Given the description of an element on the screen output the (x, y) to click on. 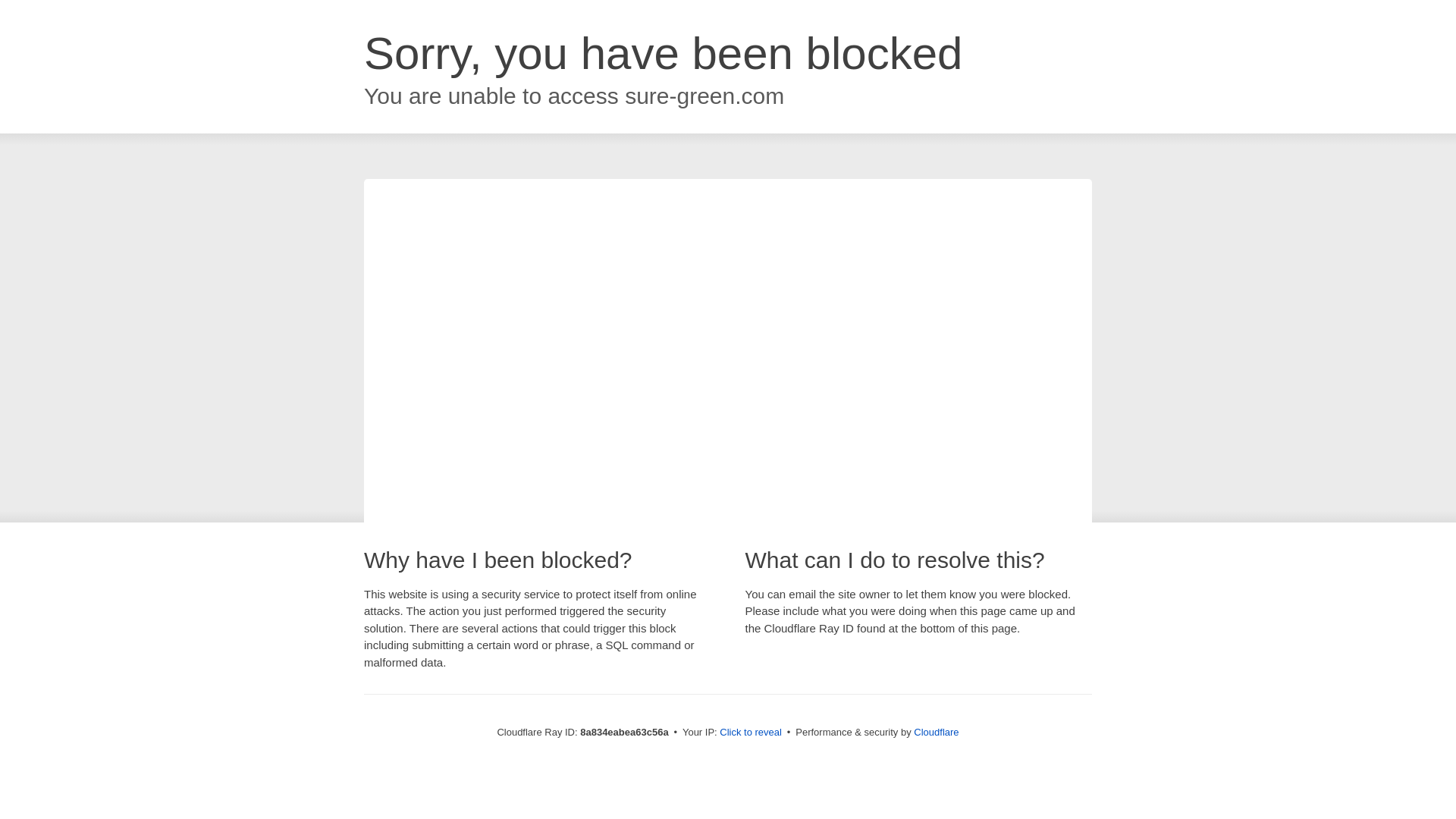
Cloudflare (936, 731)
Click to reveal (750, 732)
